Given the description of an element on the screen output the (x, y) to click on. 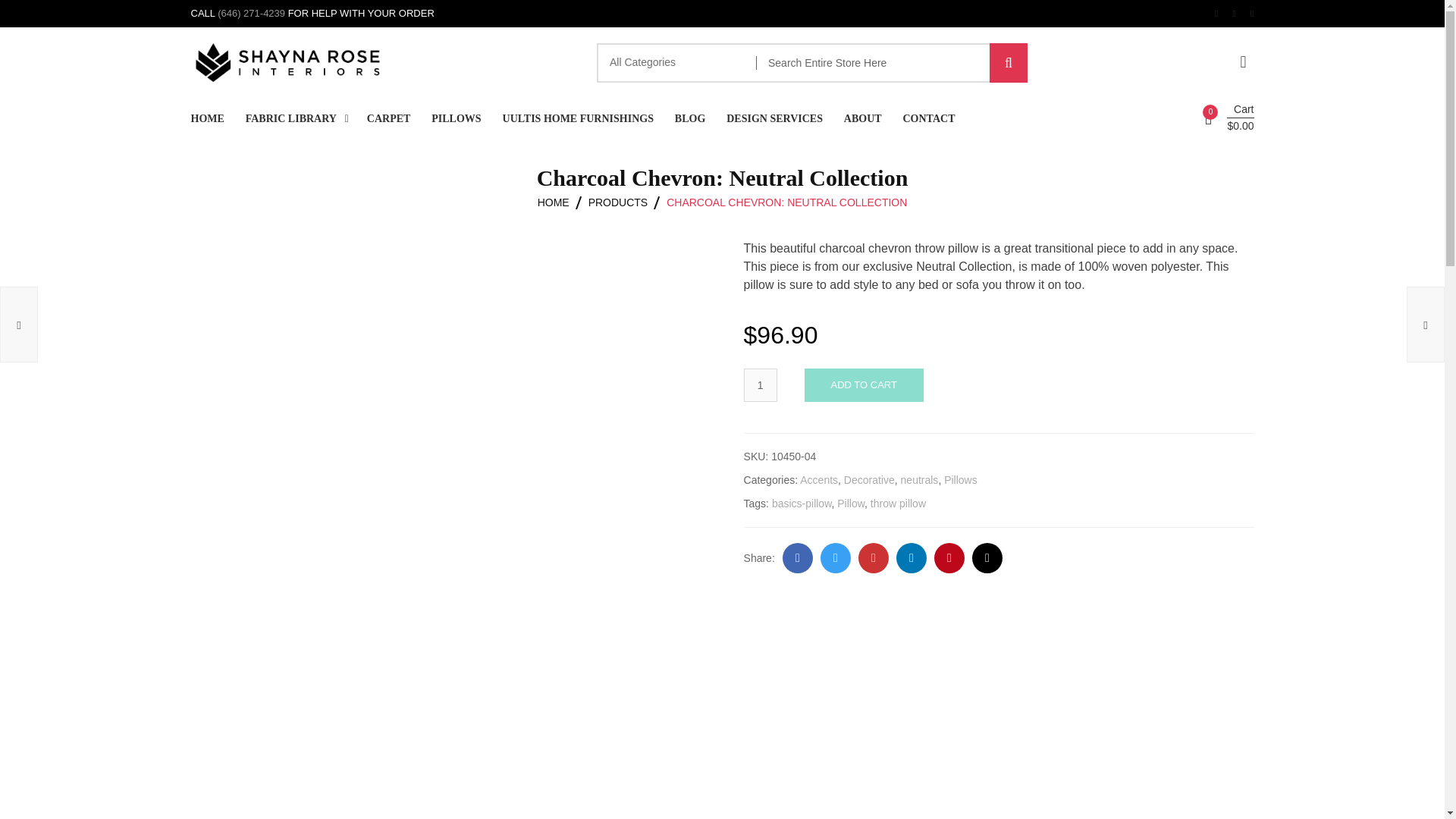
UULTIS HOME FURNISHINGS (577, 117)
CONTACT (928, 117)
ABOUT (863, 117)
1 (760, 385)
DESIGN SERVICES (774, 117)
HOME (207, 117)
BLOG (689, 117)
PILLOWS (455, 117)
FABRIC LIBRARY (291, 117)
CARPET (388, 117)
